Given the description of an element on the screen output the (x, y) to click on. 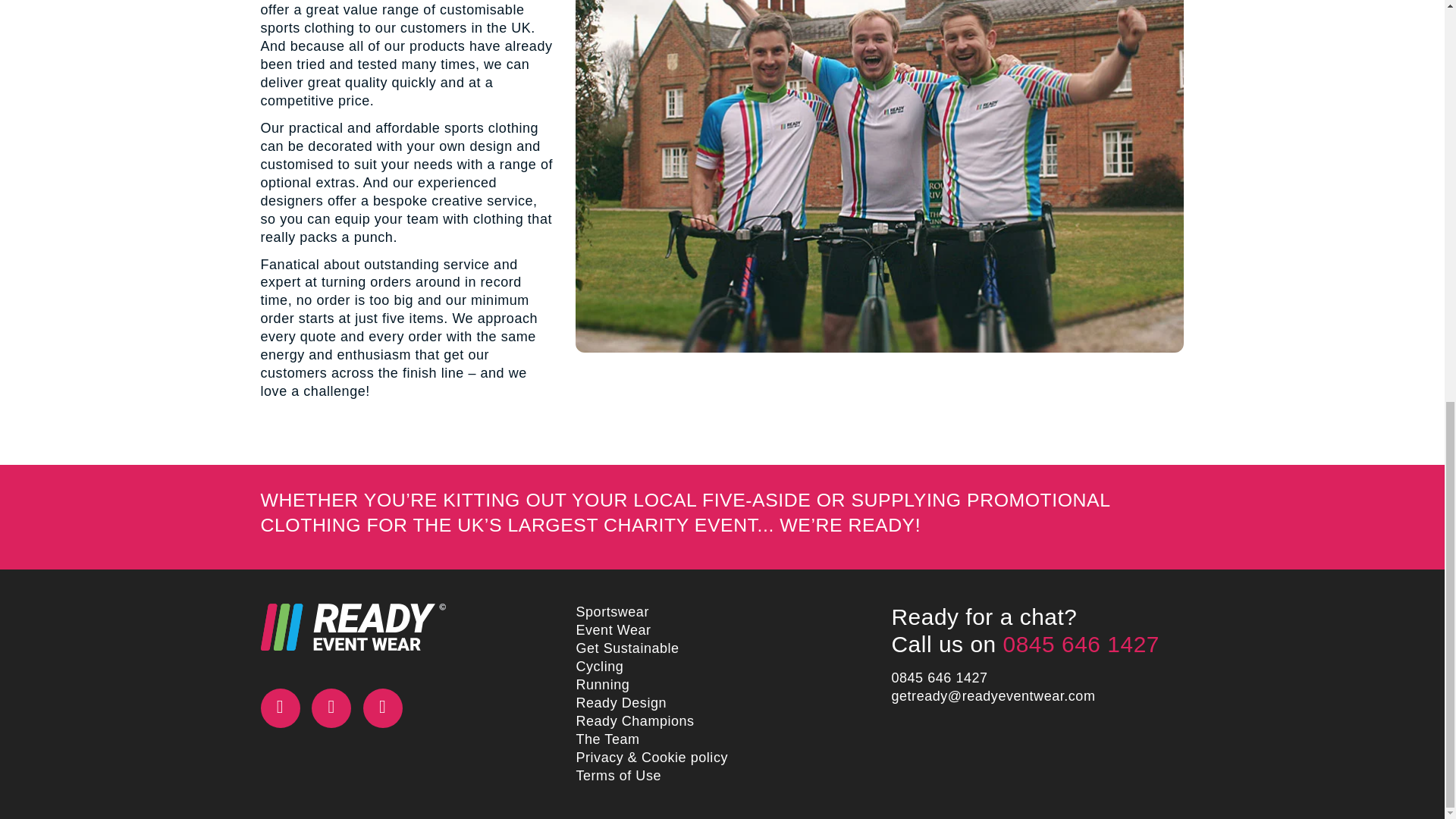
Sportswear (611, 611)
Running (601, 684)
Event Wear (612, 630)
Terms of Use (618, 775)
Ready Champions (634, 720)
Send (553, 88)
0845 646 1427 (939, 677)
Ready Design (620, 702)
The Team (607, 739)
Get Sustainable (626, 648)
